Given the description of an element on the screen output the (x, y) to click on. 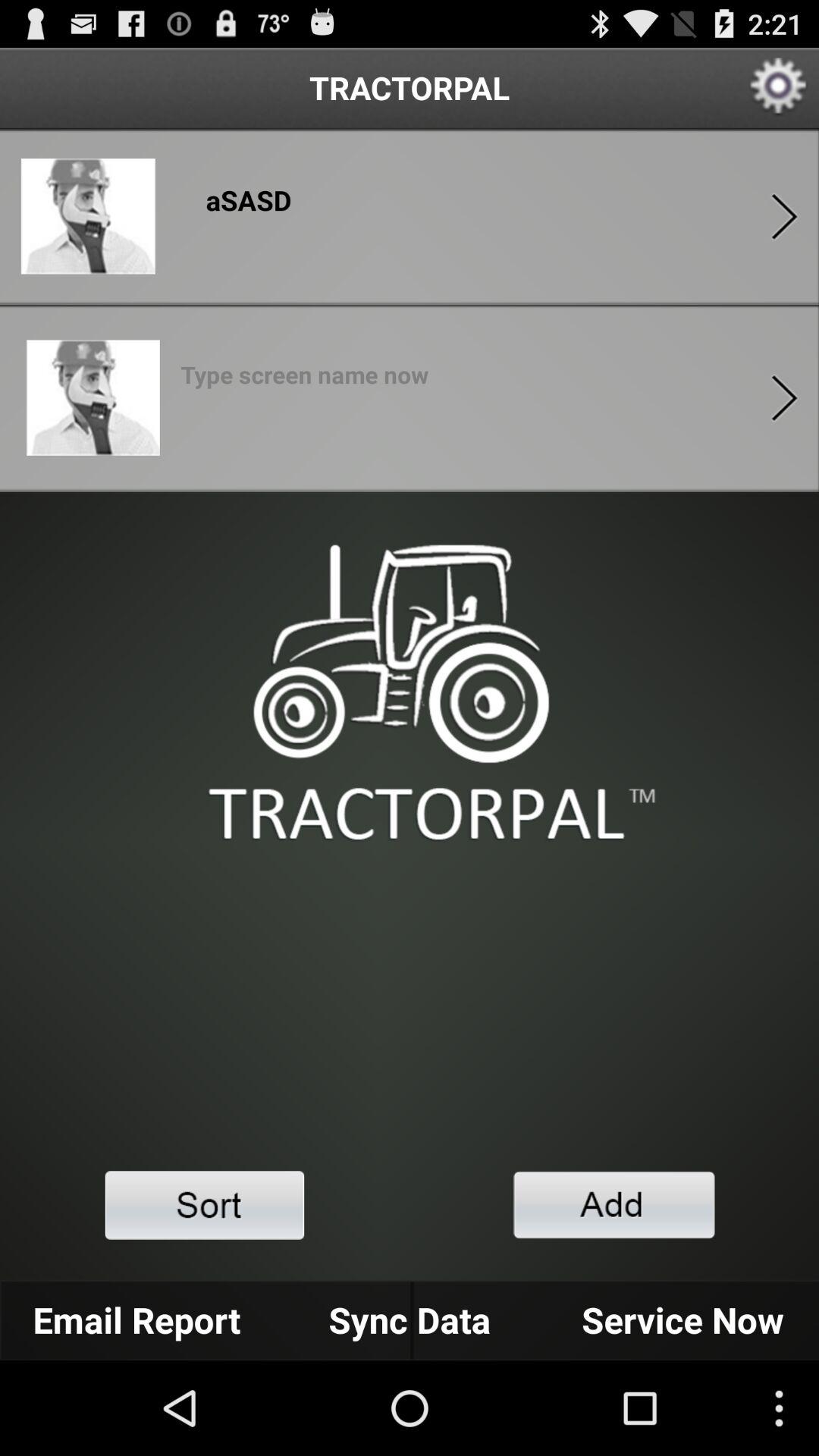
go to setting (778, 87)
